Given the description of an element on the screen output the (x, y) to click on. 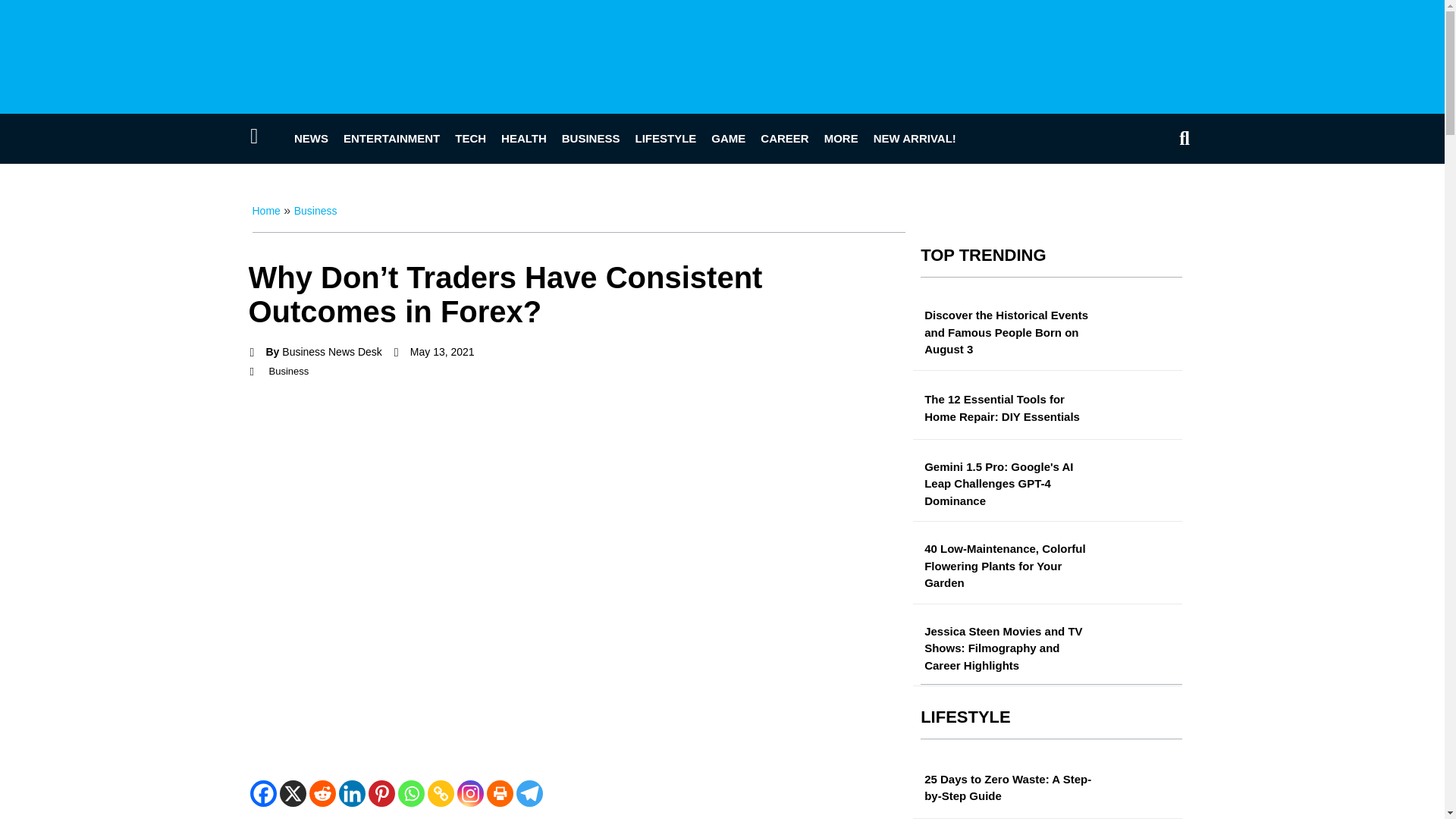
NEWS (311, 138)
Copy Link (441, 793)
ENTERTAINMENT (391, 138)
HEALTH (523, 138)
BUSINESS (590, 138)
X (292, 793)
GAME (727, 138)
TECH (469, 138)
Linkedin (351, 793)
LIFESTYLE (665, 138)
Print (499, 793)
Reddit (322, 793)
Telegram (528, 793)
CAREER (783, 138)
Whatsapp (410, 793)
